Given the description of an element on the screen output the (x, y) to click on. 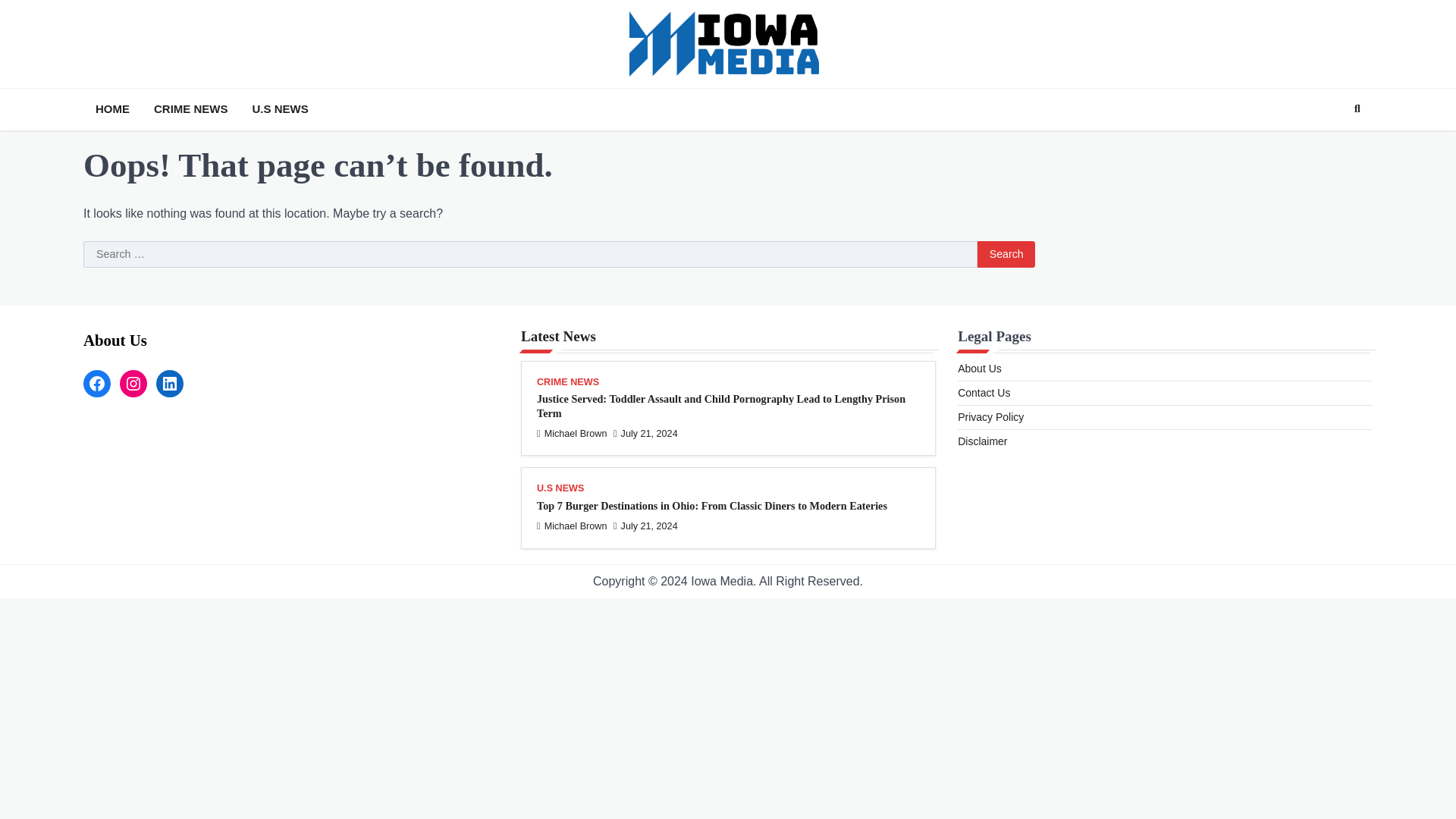
Disclaimer (982, 440)
Privacy Policy (990, 417)
Michael Brown (572, 525)
U.S NEWS (560, 489)
July 21, 2024 (645, 433)
Instagram (133, 383)
Search (1005, 254)
CRIME NEWS (191, 108)
Facebook (96, 383)
LinkedIn (169, 383)
